Given the description of an element on the screen output the (x, y) to click on. 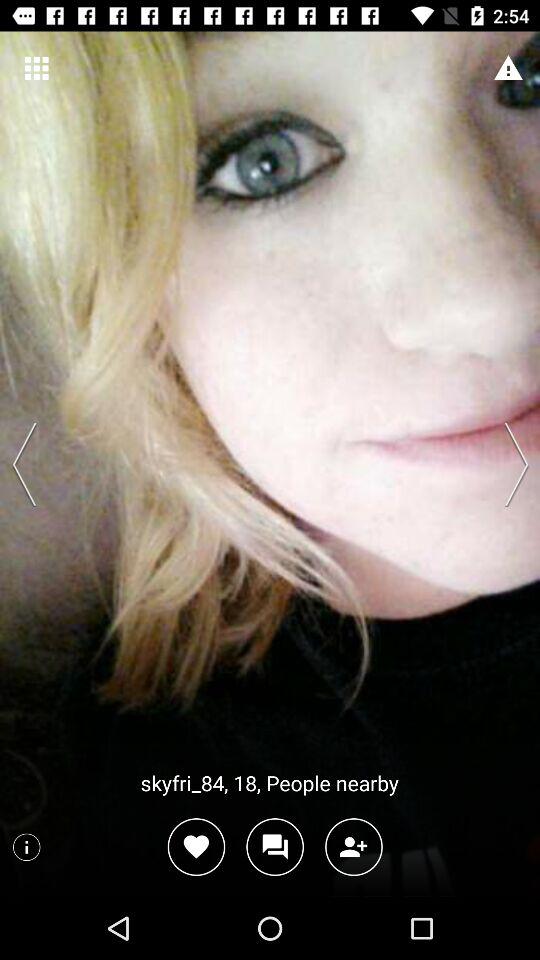
add profile (353, 846)
